Given the description of an element on the screen output the (x, y) to click on. 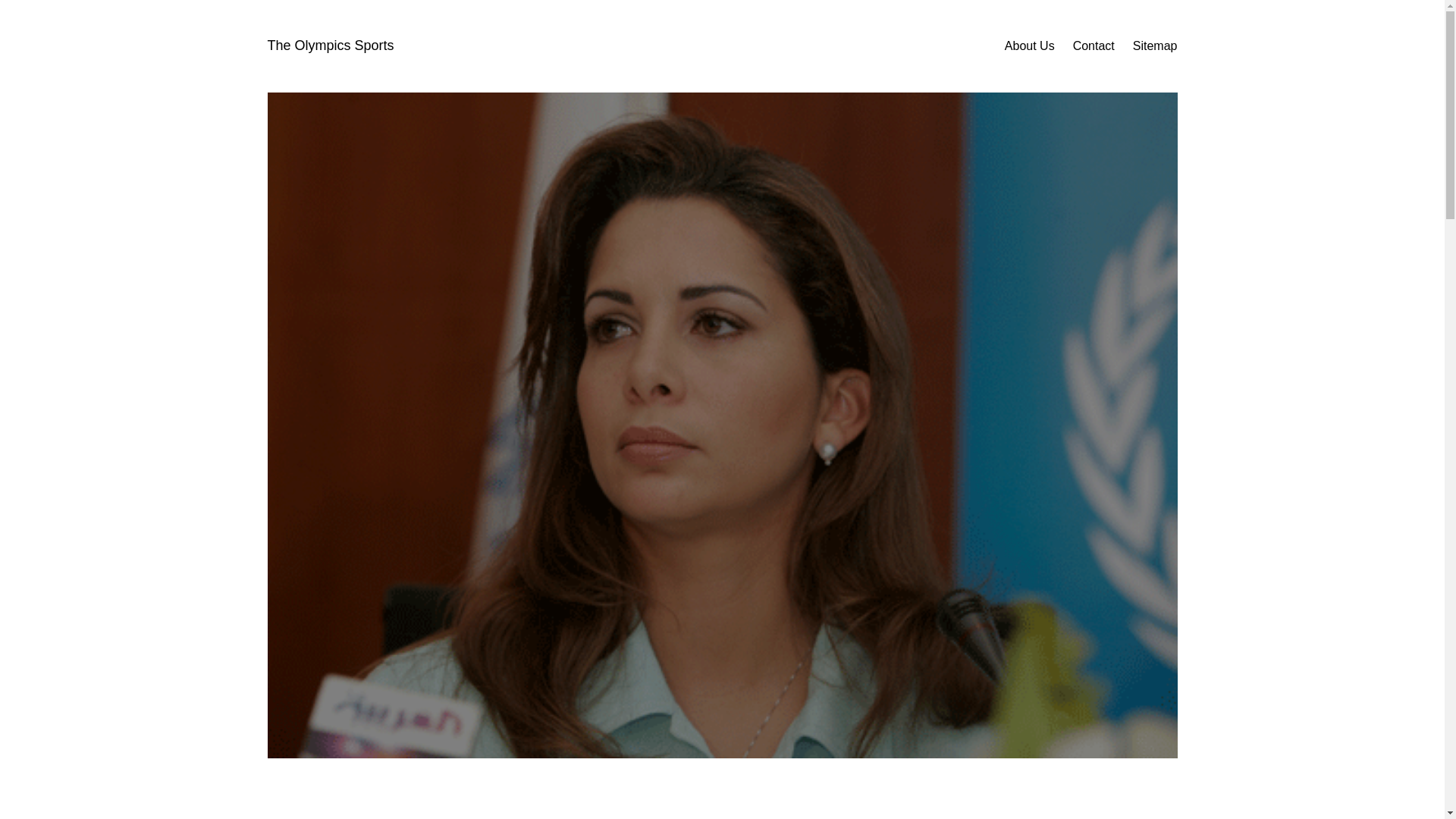
Sitemap (1154, 46)
Contact (1094, 46)
The Olympics Sports (329, 45)
About Us (1029, 46)
